Given the description of an element on the screen output the (x, y) to click on. 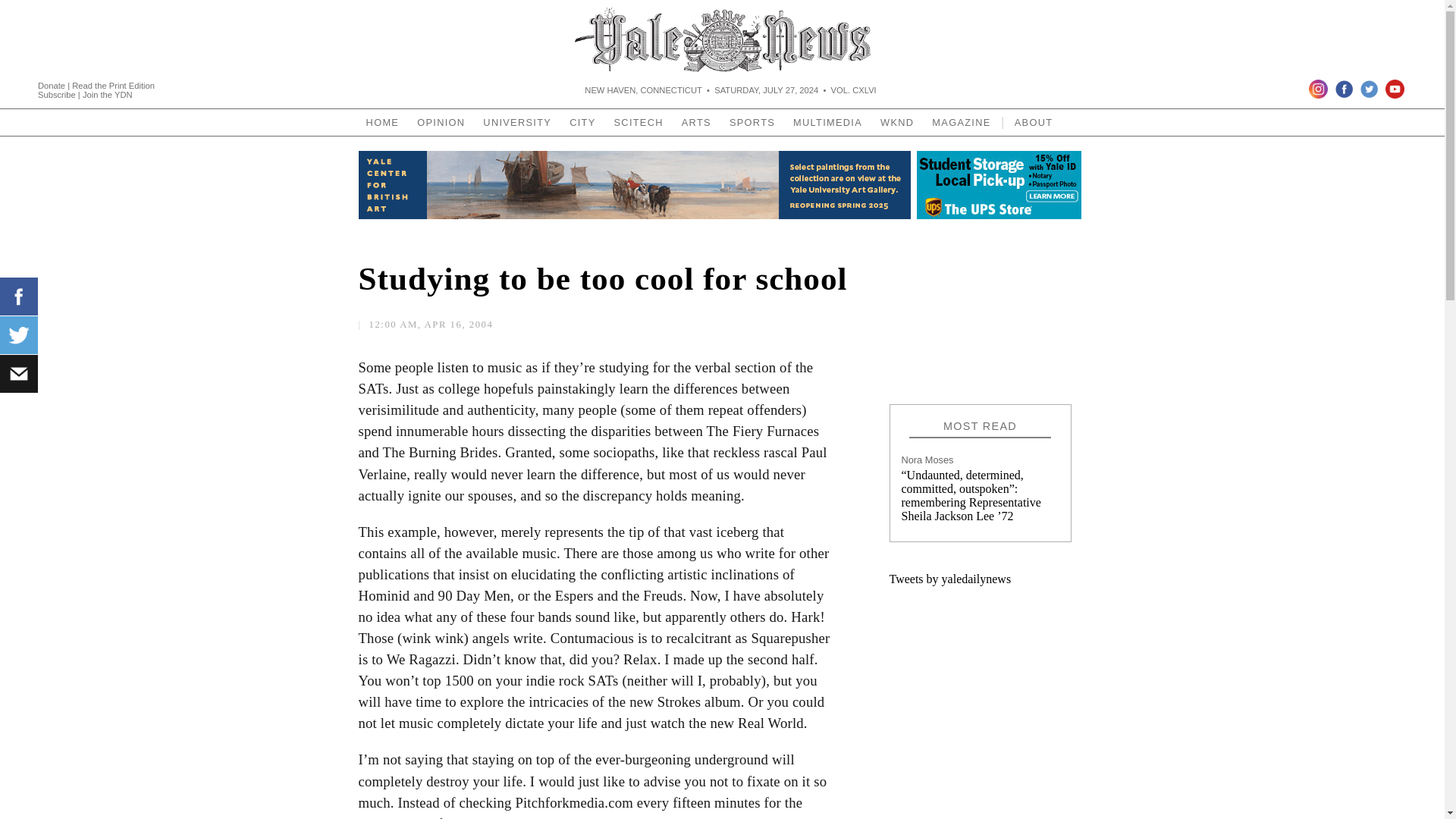
ABOUT (1034, 121)
ARTS (696, 121)
Subscribe (57, 93)
Read the Print Edition (112, 84)
Join the YDN (107, 93)
SPORTS (752, 121)
Subscribe (57, 93)
HOME (382, 121)
SCITECH (639, 121)
YCBA-LB-Summer 2024 Free (634, 185)
Donate (51, 84)
WKND (896, 121)
UNIVERSITY (517, 121)
CITY (582, 121)
MULTIMEDIA (827, 121)
